Given the description of an element on the screen output the (x, y) to click on. 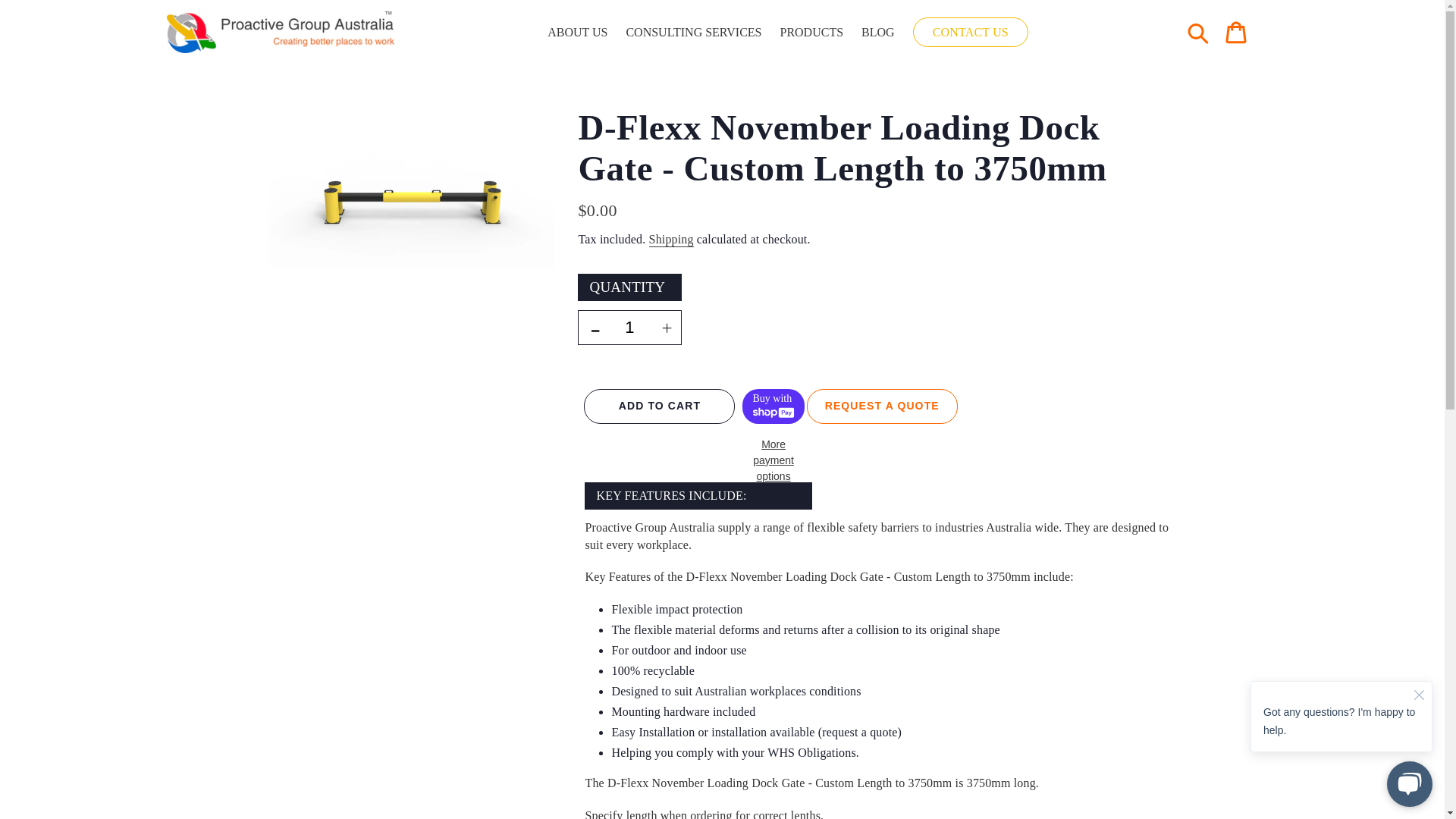
Search (1198, 31)
1 (628, 327)
Cart (1235, 32)
PRODUCTS (810, 31)
BLOG (877, 31)
ABOUT US (577, 31)
CONSULTING SERVICES (692, 31)
CONTACT US (970, 31)
